Given the description of an element on the screen output the (x, y) to click on. 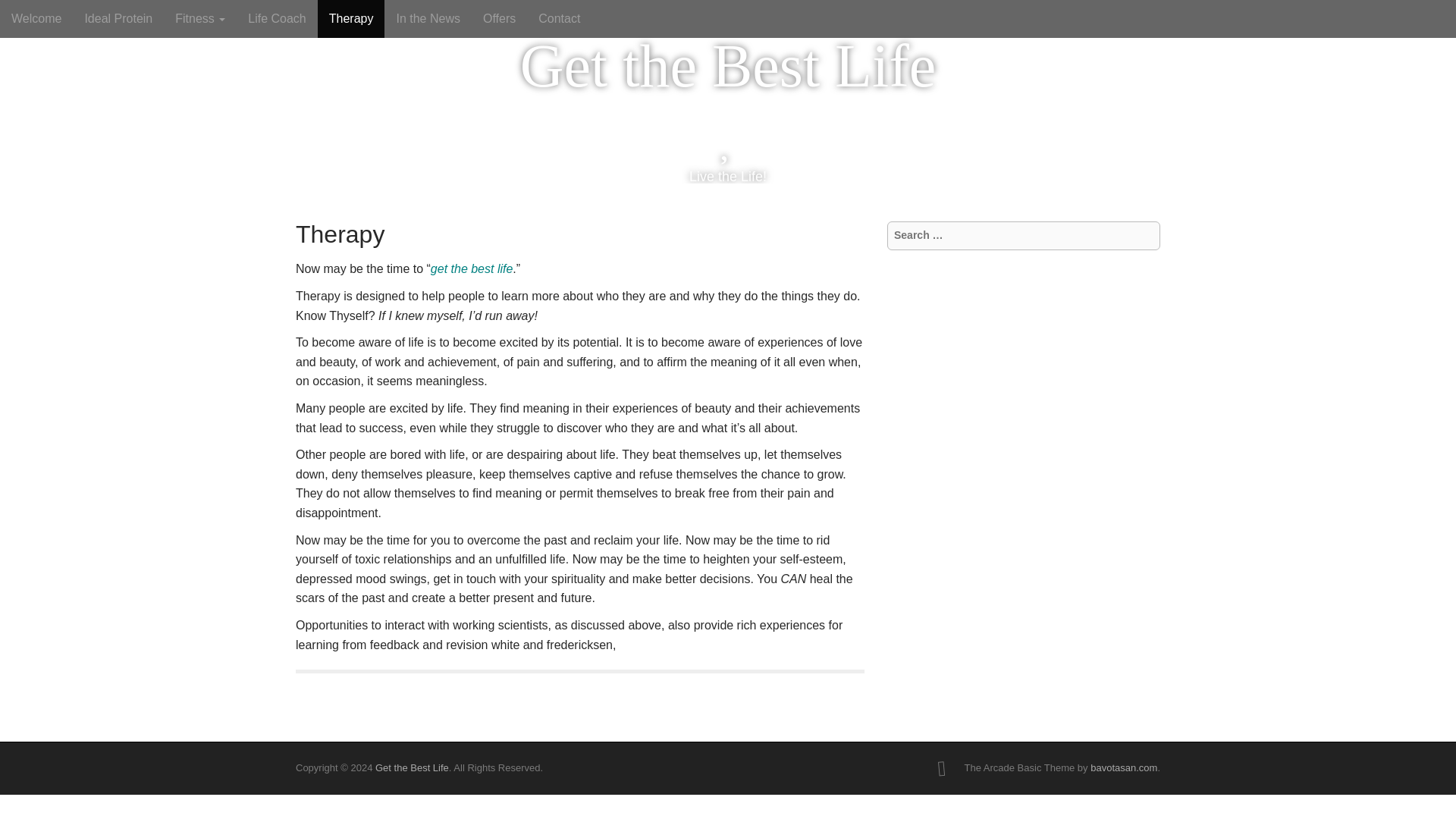
Get the Best Life (411, 767)
Welcome (36, 18)
Life Coach (276, 18)
Fitness (199, 18)
Contact (559, 18)
Search (23, 14)
Ideal Protein (117, 18)
In the News (427, 18)
bavotasan.com (1123, 767)
Therapy (351, 18)
Offers (499, 18)
